Given the description of an element on the screen output the (x, y) to click on. 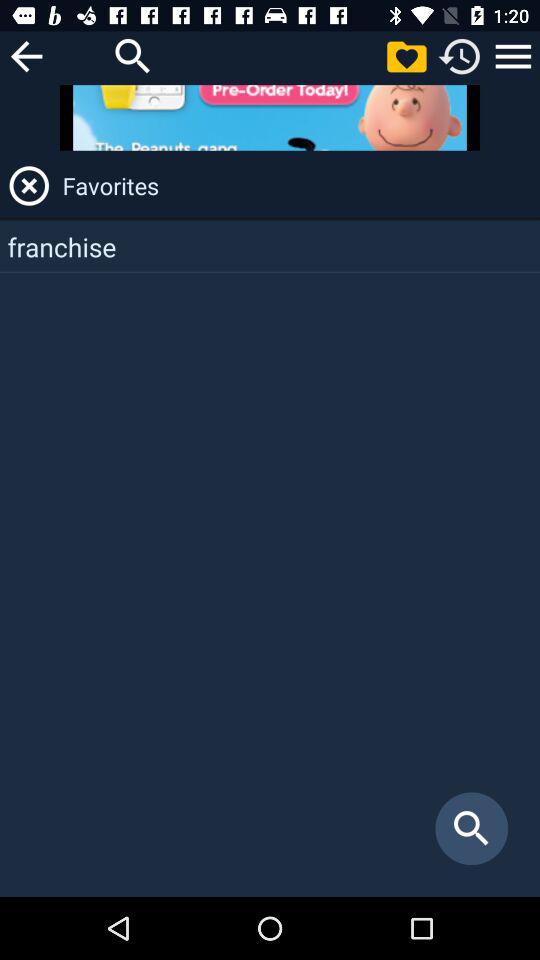
open advertisement (270, 117)
